Given the description of an element on the screen output the (x, y) to click on. 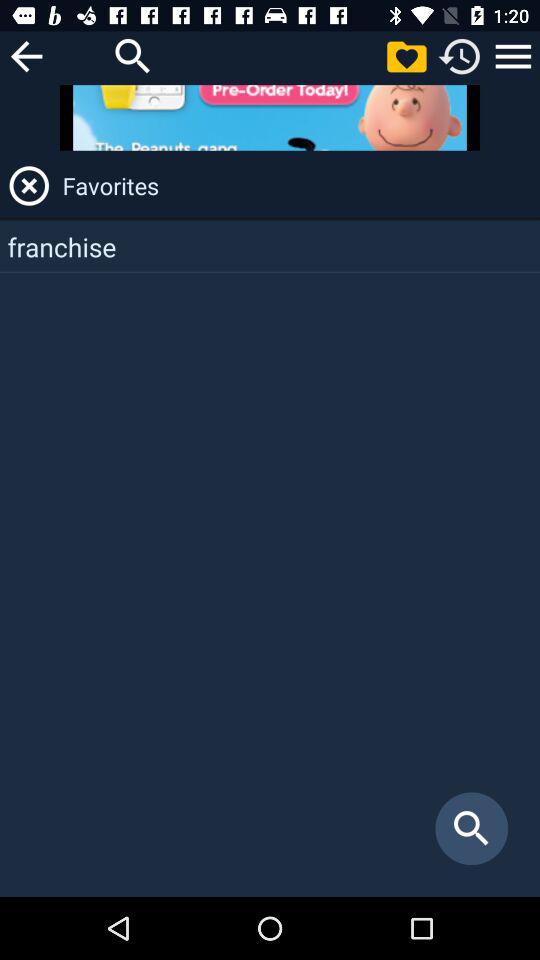
open advertisement (270, 117)
